Given the description of an element on the screen output the (x, y) to click on. 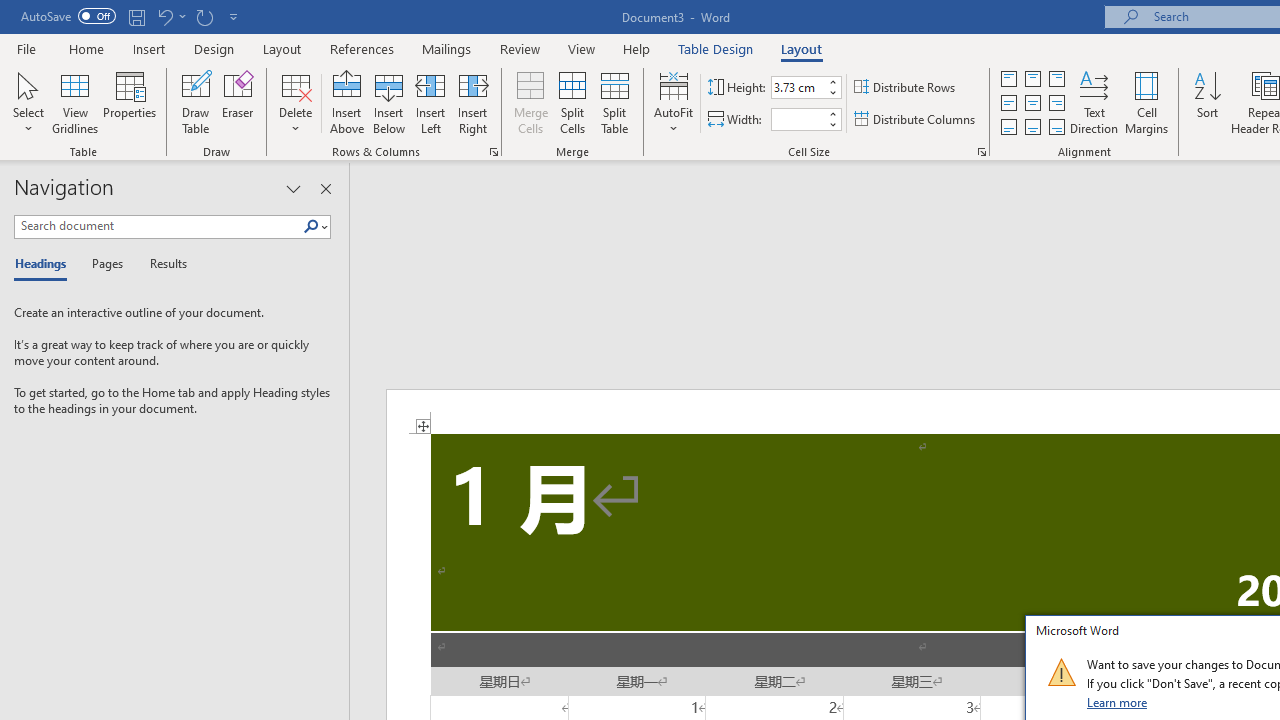
Insert Left (430, 102)
Distribute Rows (906, 87)
Split Table (614, 102)
